Given the description of an element on the screen output the (x, y) to click on. 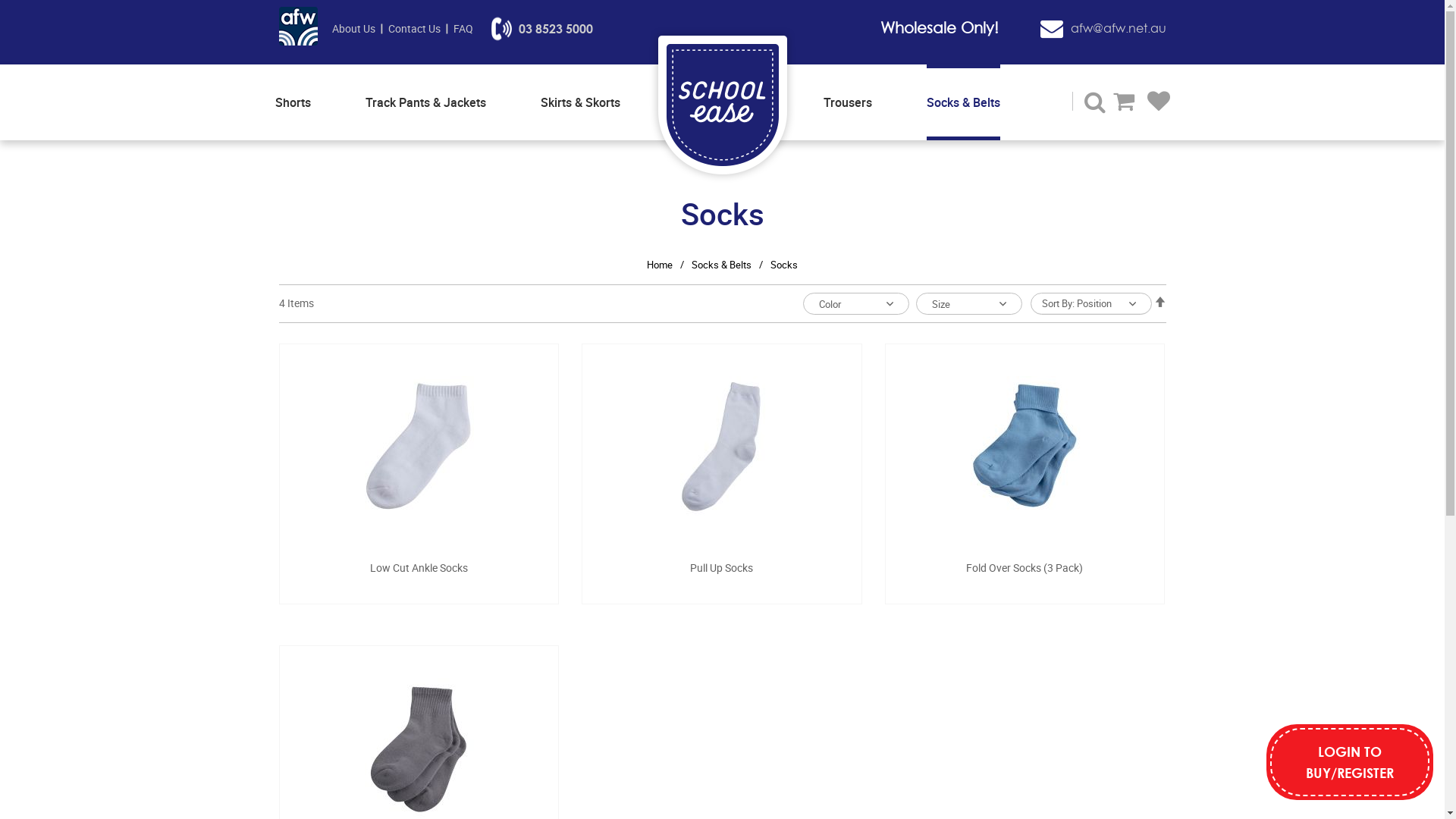
03 8523 5000 Element type: text (542, 28)
Search Element type: hover (1094, 102)
Pull Up Socks Element type: text (721, 567)
FAQ Element type: text (463, 28)
School Ease Element type: hover (722, 104)
afw@afw.net.au Element type: text (1103, 27)
Socks & Belts Element type: text (721, 264)
About Us Element type: text (353, 28)
Fold Over Socks (3 Pack) Element type: text (1024, 567)
Trousers Element type: text (847, 102)
LOGIN TO BUY/REGISTER Element type: text (1349, 762)
Skirts & Skorts Element type: text (579, 102)
Low Cut Ankle Socks Element type: text (418, 567)
My Wish List Element type: text (1157, 100)
Home Element type: text (659, 264)
Set Descending Direction Element type: text (1160, 301)
Track Pants & Jackets Element type: text (425, 102)
Shorts Element type: text (292, 102)
Socks & Belts Element type: text (963, 102)
Contact Us Element type: text (414, 28)
